Given the description of an element on the screen output the (x, y) to click on. 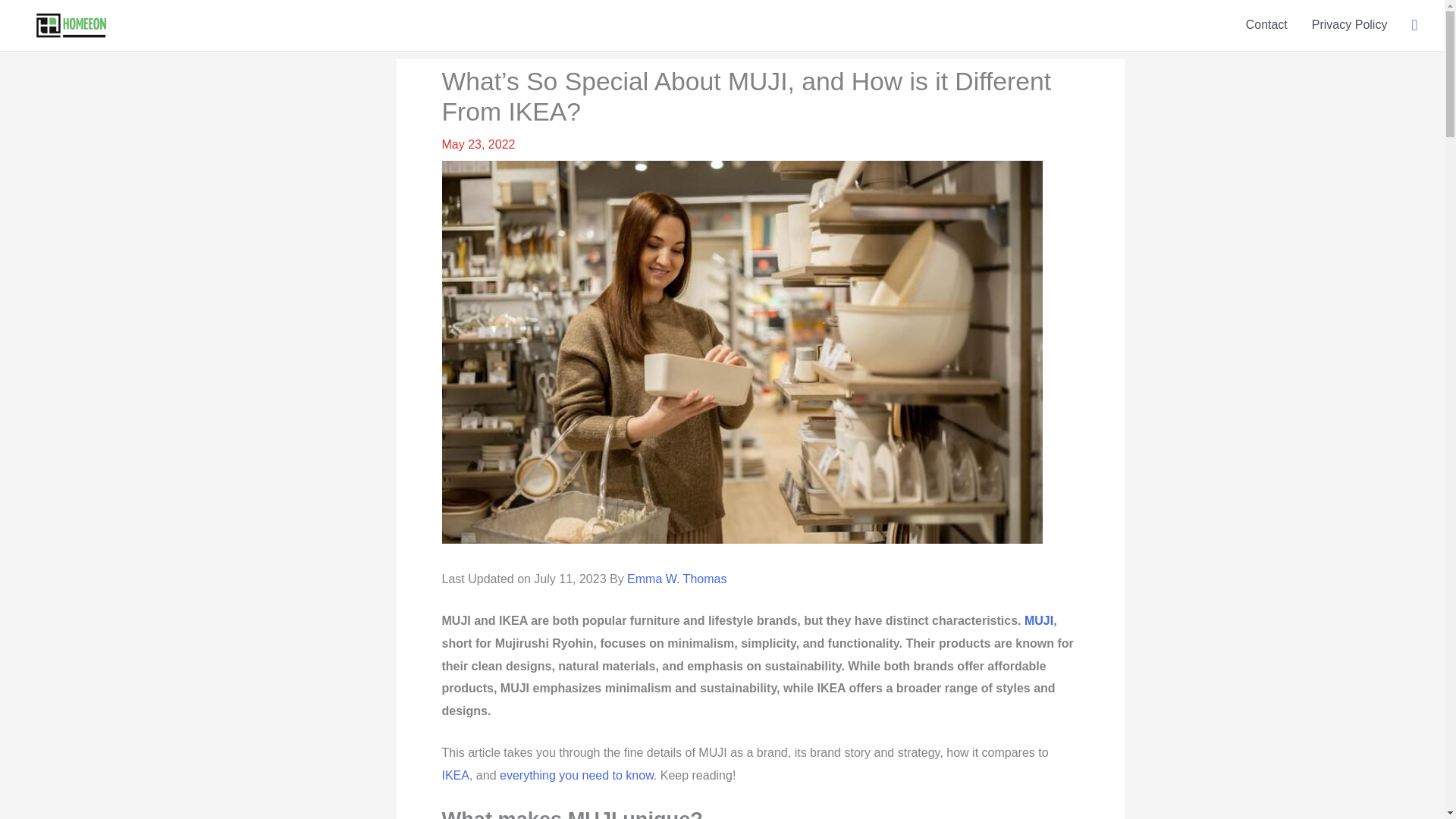
MUJI (1038, 620)
IKEA (454, 775)
Privacy Policy (1349, 24)
Contact (1266, 24)
Emma W. Thomas (676, 578)
everything you need to know (576, 775)
